Given the description of an element on the screen output the (x, y) to click on. 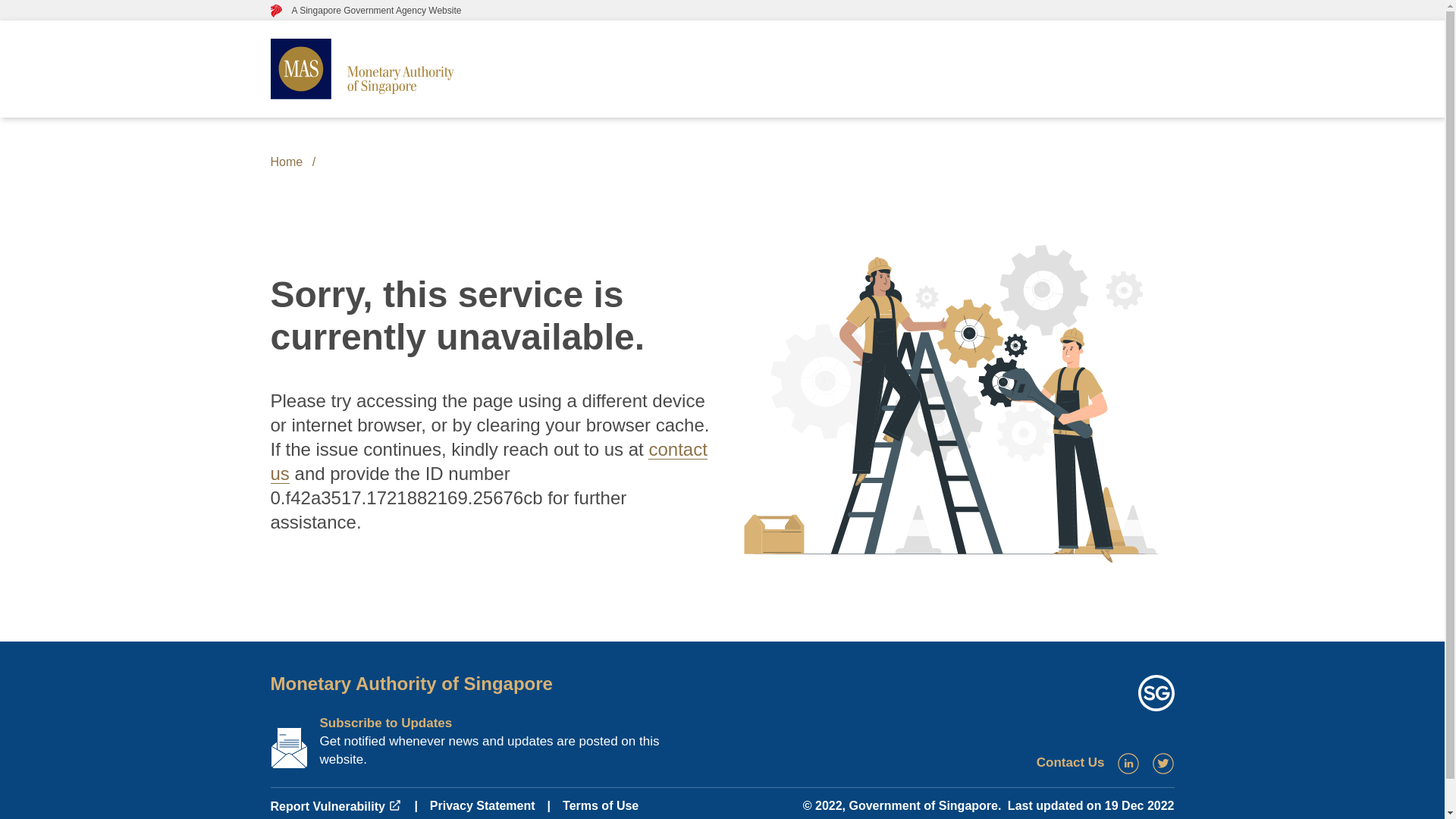
contact us (487, 461)
A Singapore Government Agency Website (365, 10)
Report Vulnerability (335, 806)
Home (285, 161)
Contact Us (1070, 762)
Monetary Authority of Singapore (410, 683)
Terms of Use (600, 805)
Privacy Statement (482, 805)
